Given the description of an element on the screen output the (x, y) to click on. 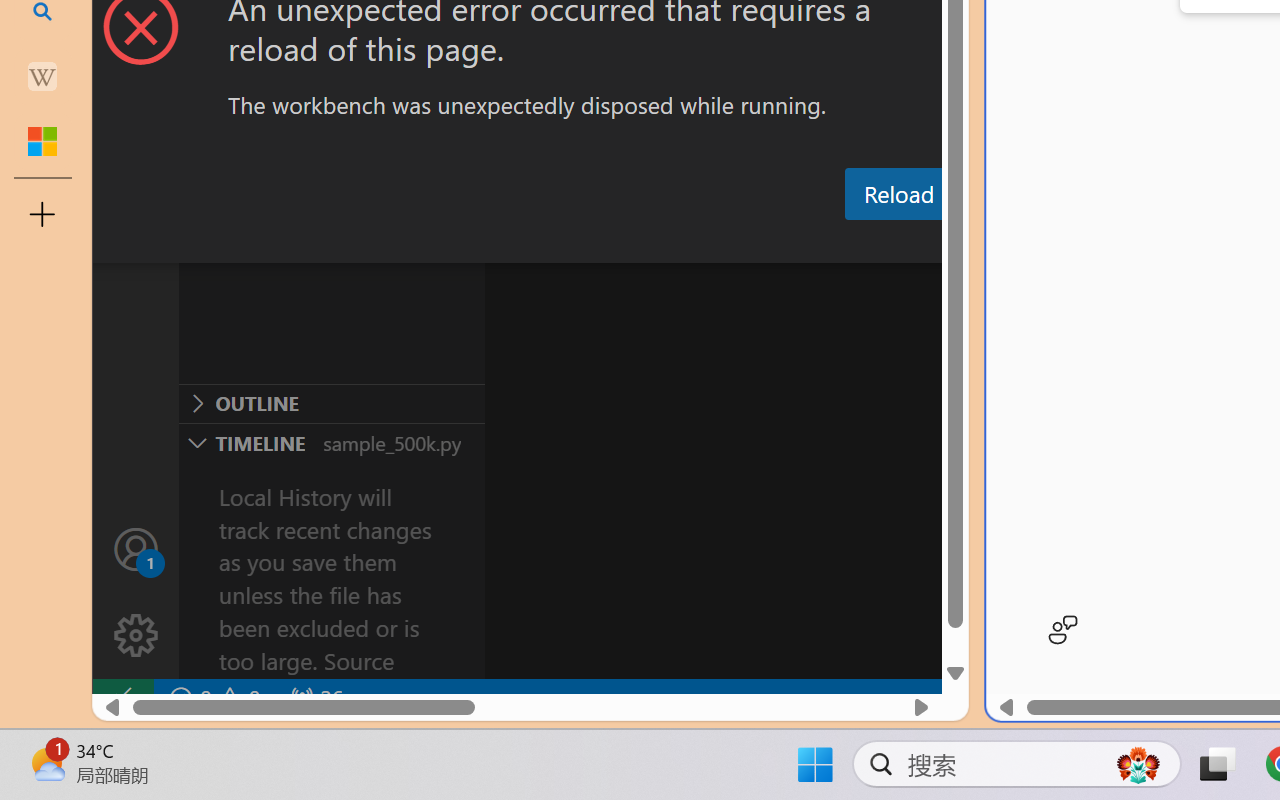
Terminal (Ctrl+`) (1021, 243)
Problems (Ctrl+Shift+M) (567, 243)
Reload (898, 193)
Outline Section (331, 403)
Output (Ctrl+Shift+U) (696, 243)
